Given the description of an element on the screen output the (x, y) to click on. 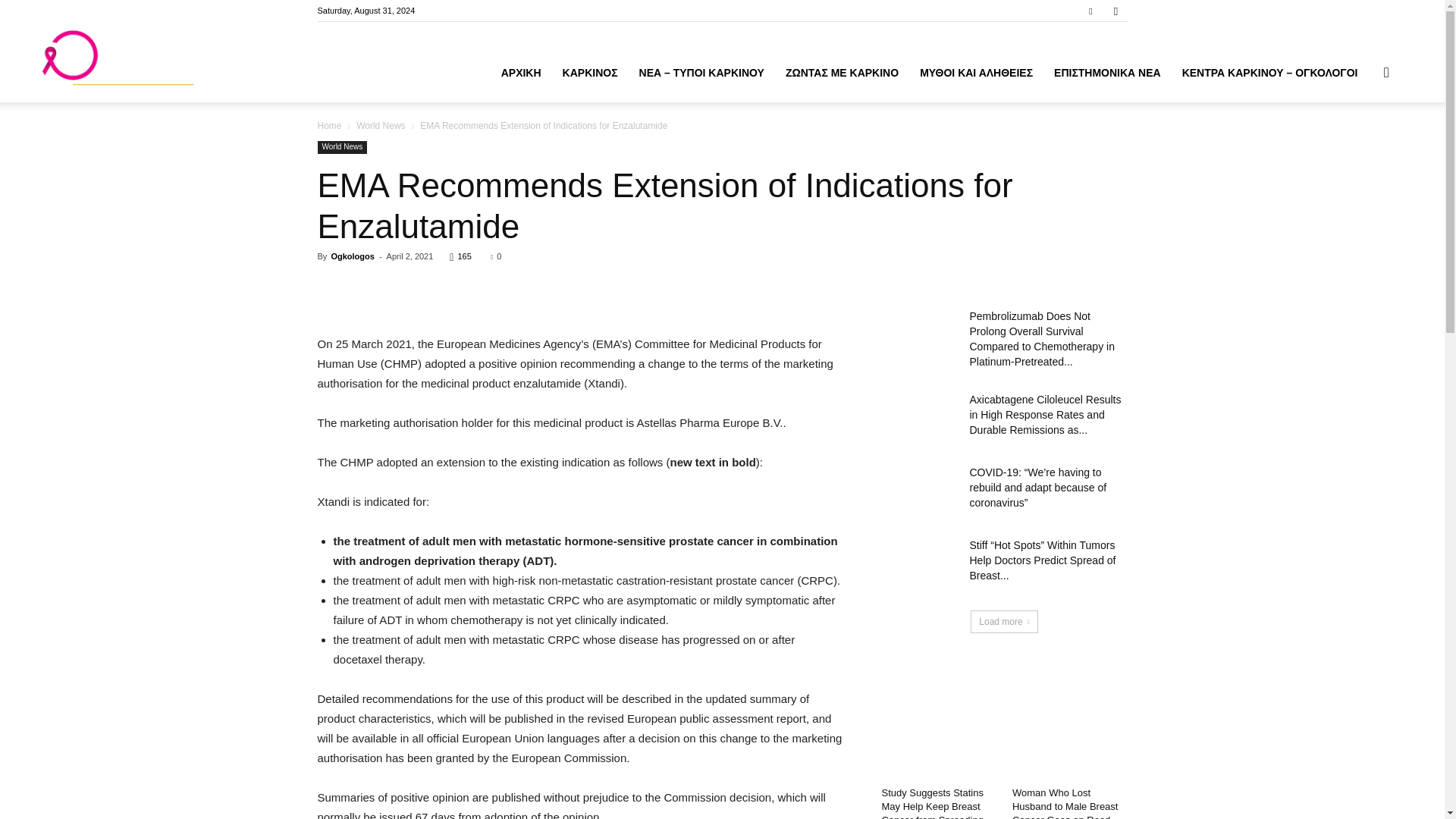
Instagram (1114, 10)
View all posts in World News (380, 125)
Facebook (1090, 10)
